Given the description of an element on the screen output the (x, y) to click on. 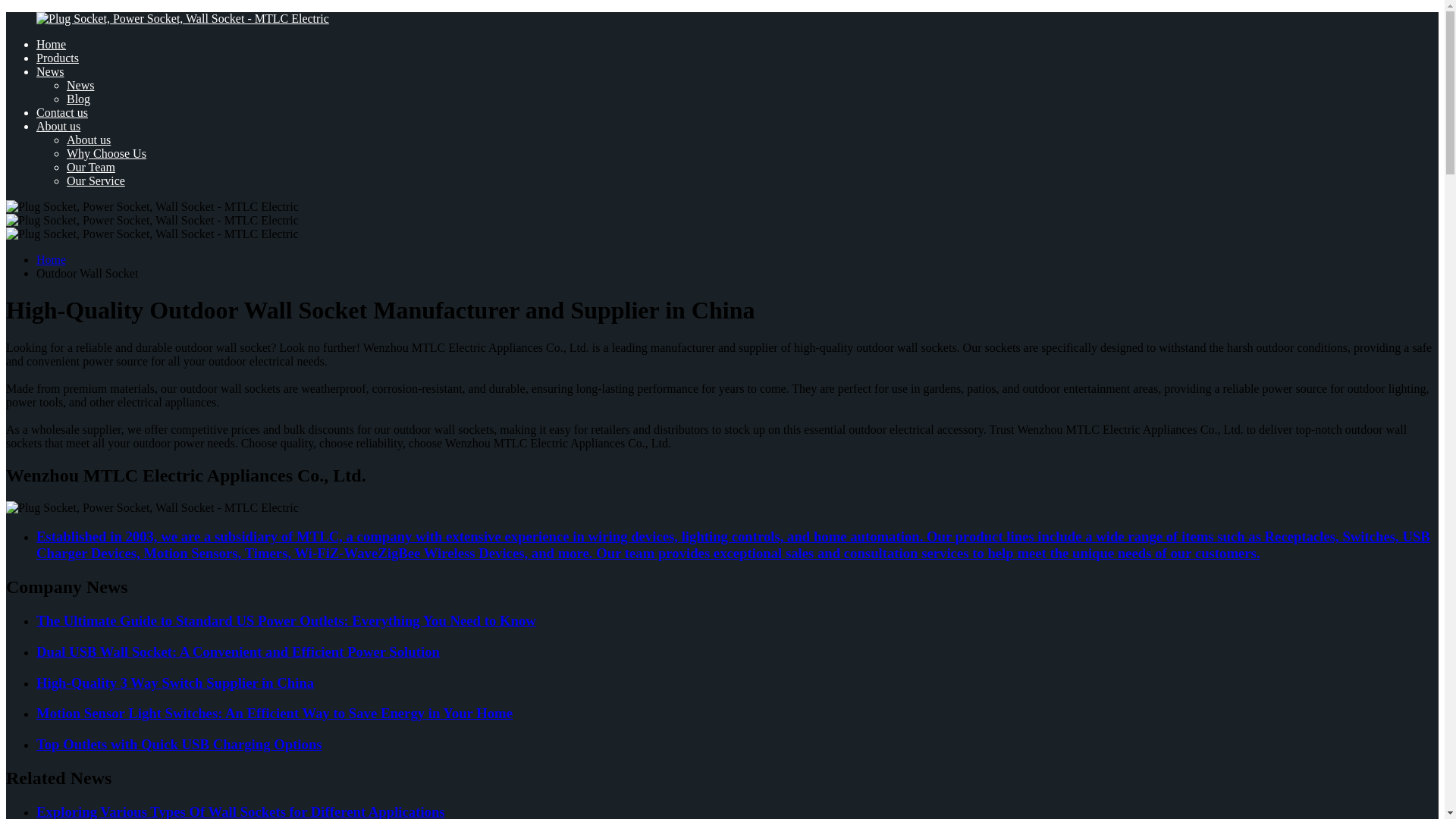
About us (58, 125)
Contact us (61, 112)
News (80, 84)
News (50, 71)
Home (50, 43)
Products (57, 57)
Blog (78, 98)
Why Choose Us (106, 153)
Home (50, 259)
About us (88, 139)
